Given the description of an element on the screen output the (x, y) to click on. 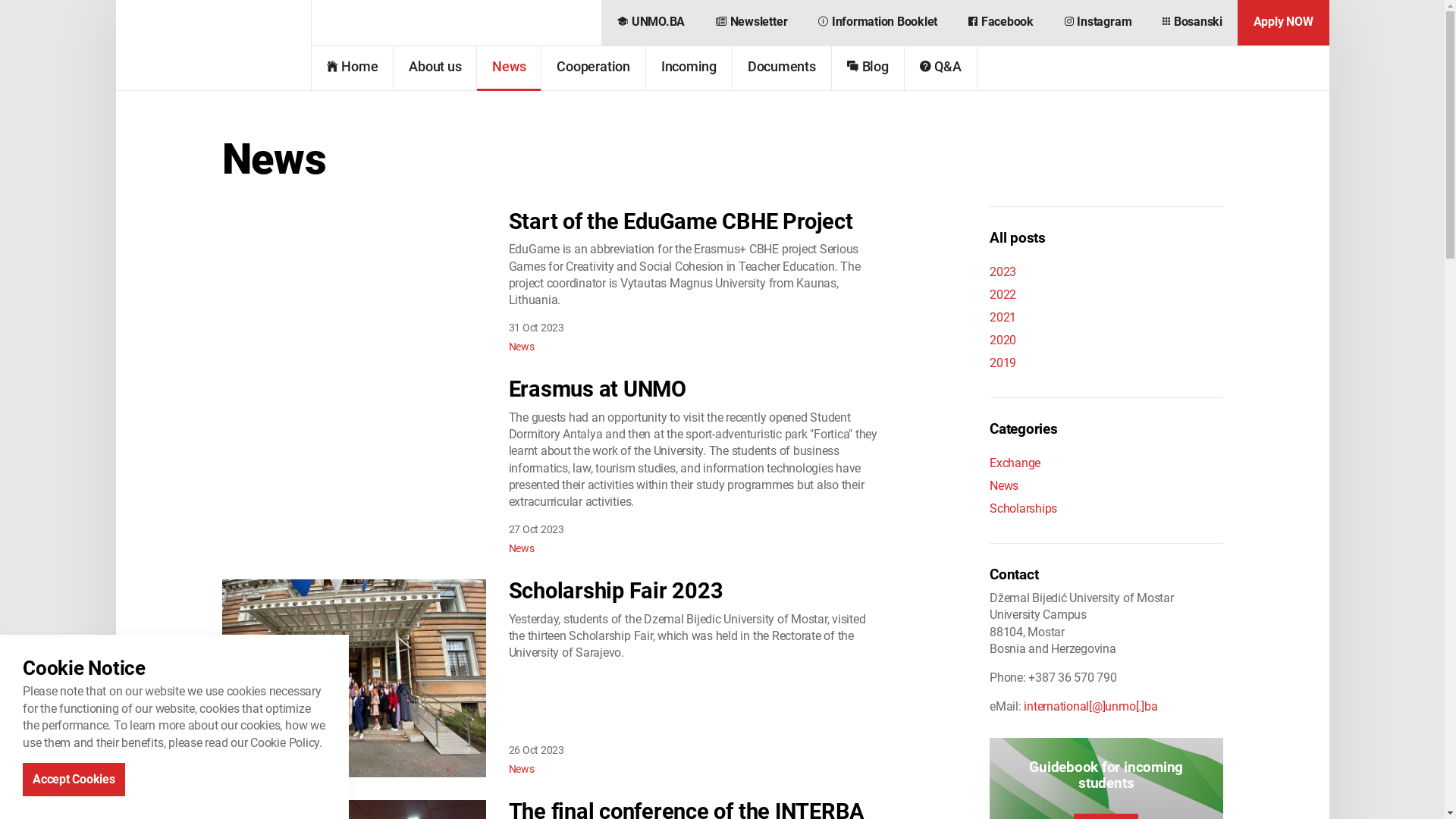
Instagram Element type: text (1098, 22)
Apply NOW Element type: text (1283, 22)
international[@]unmo[.]ba Element type: text (1090, 706)
UNMO.BA Element type: text (650, 22)
News Element type: text (520, 346)
Scholarships Element type: text (1106, 508)
Home Element type: text (351, 68)
News Element type: text (520, 768)
Newsletter Element type: text (751, 22)
International Relations Office - UNMO Element type: text (212, 45)
2022 Element type: text (1106, 294)
Blog Element type: text (867, 68)
2019 Element type: text (1106, 363)
News Element type: text (508, 68)
Q&A Element type: text (940, 68)
2021 Element type: text (1106, 317)
Skip to main content Element type: text (721, 14)
Bosanski Element type: text (1192, 22)
News Element type: text (520, 548)
All posts Element type: text (1017, 237)
Exchange Element type: text (1106, 463)
News Element type: text (1106, 485)
Information Booklet Element type: text (877, 22)
Incoming Element type: text (688, 68)
Cooperation Element type: text (592, 68)
Accept Cookies Element type: text (73, 779)
Documents Element type: text (781, 68)
2023 Element type: text (1106, 272)
About us Element type: text (434, 68)
2020 Element type: text (1106, 340)
Facebook Element type: text (1000, 22)
